Given the description of an element on the screen output the (x, y) to click on. 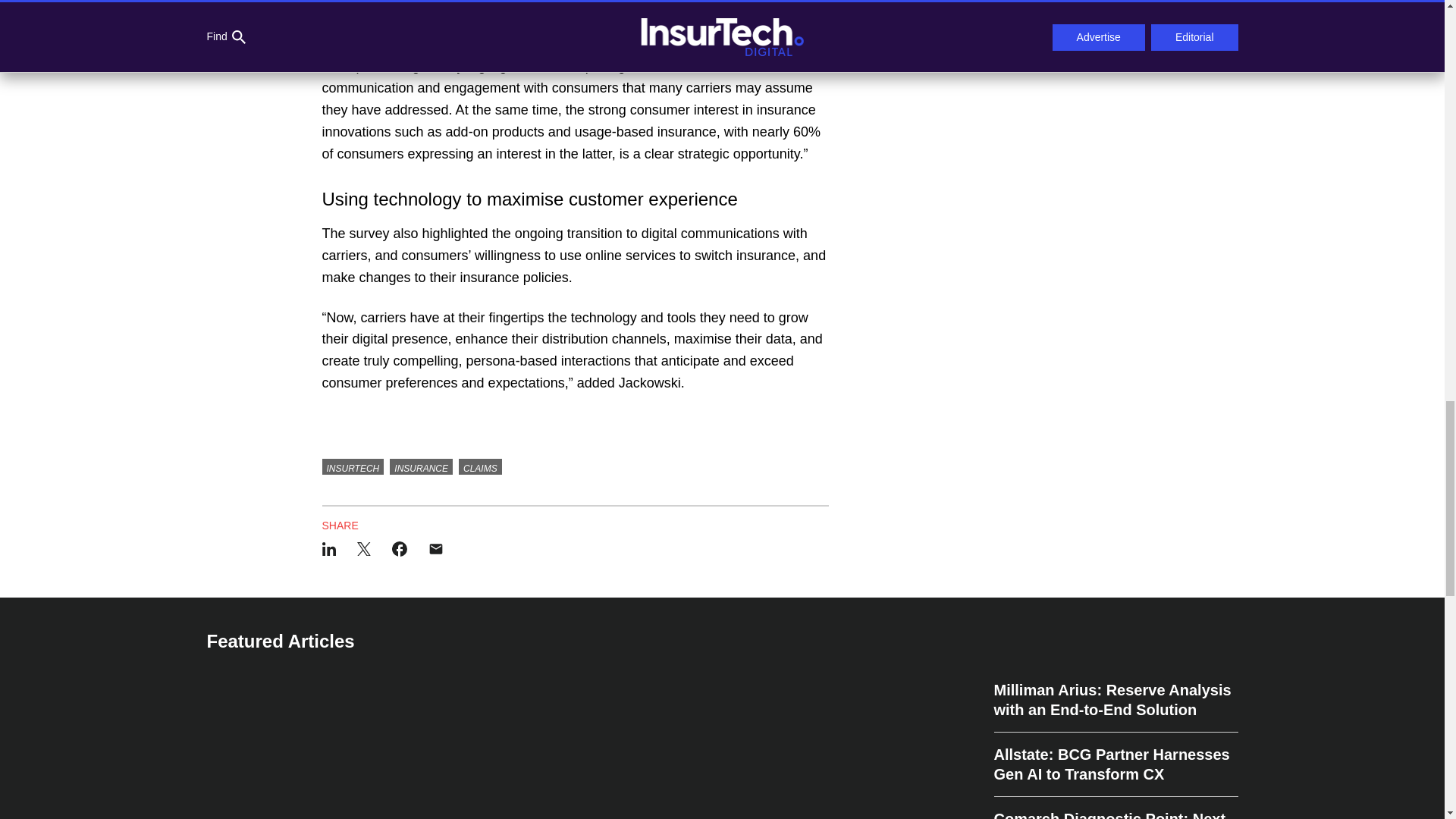
Allstate: BCG Partner Harnesses Gen AI to Transform CX (1114, 764)
Comarch Diagnostic Point: Next Gen European Health Insurance (1114, 807)
CLAIMS (480, 466)
Milliman Arius: Reserve Analysis with an End-to-End Solution (1114, 706)
INSURTECH (352, 466)
INSURANCE (421, 466)
